Given the description of an element on the screen output the (x, y) to click on. 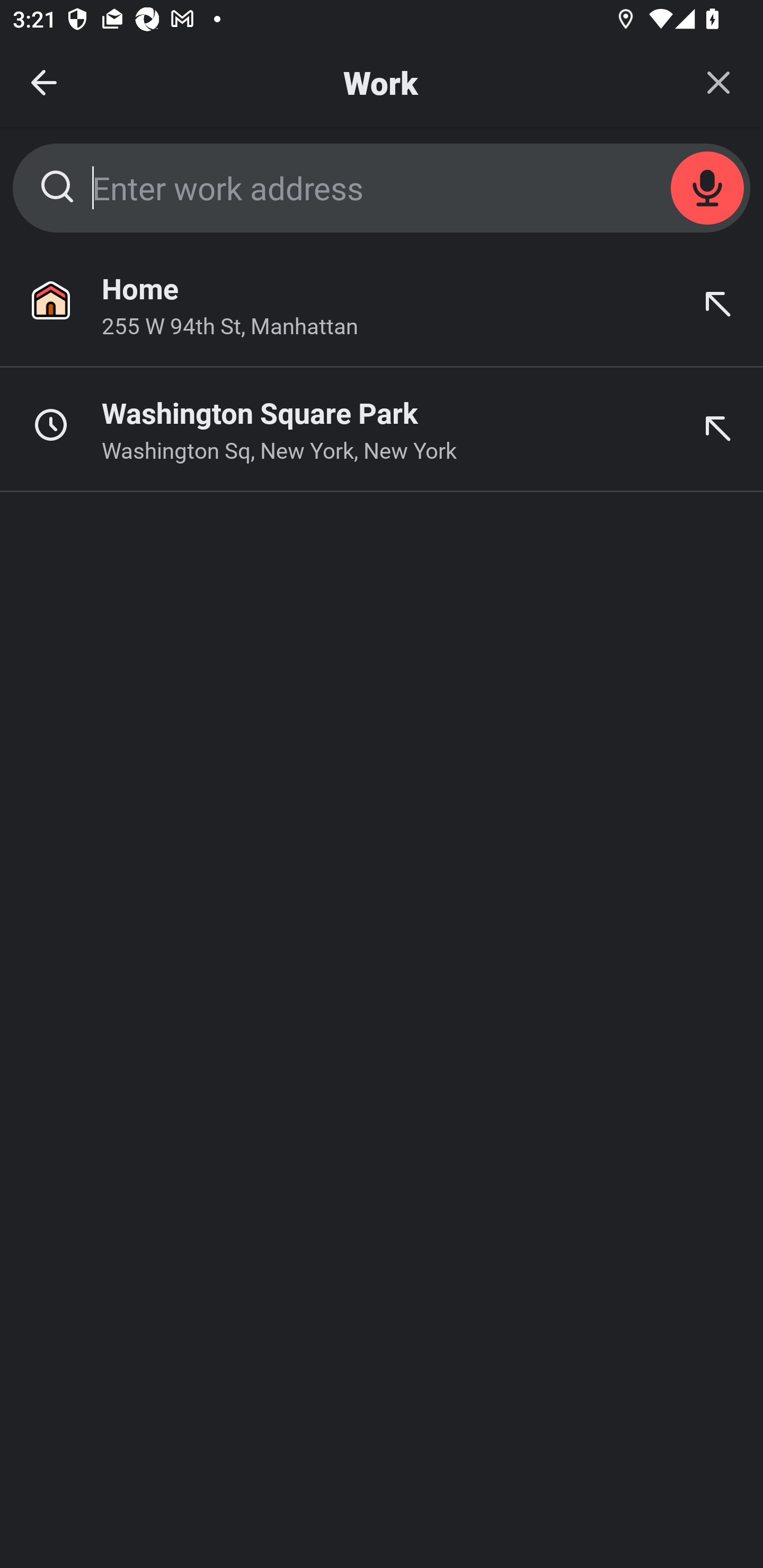
Enter work address (381, 188)
